Given the description of an element on the screen output the (x, y) to click on. 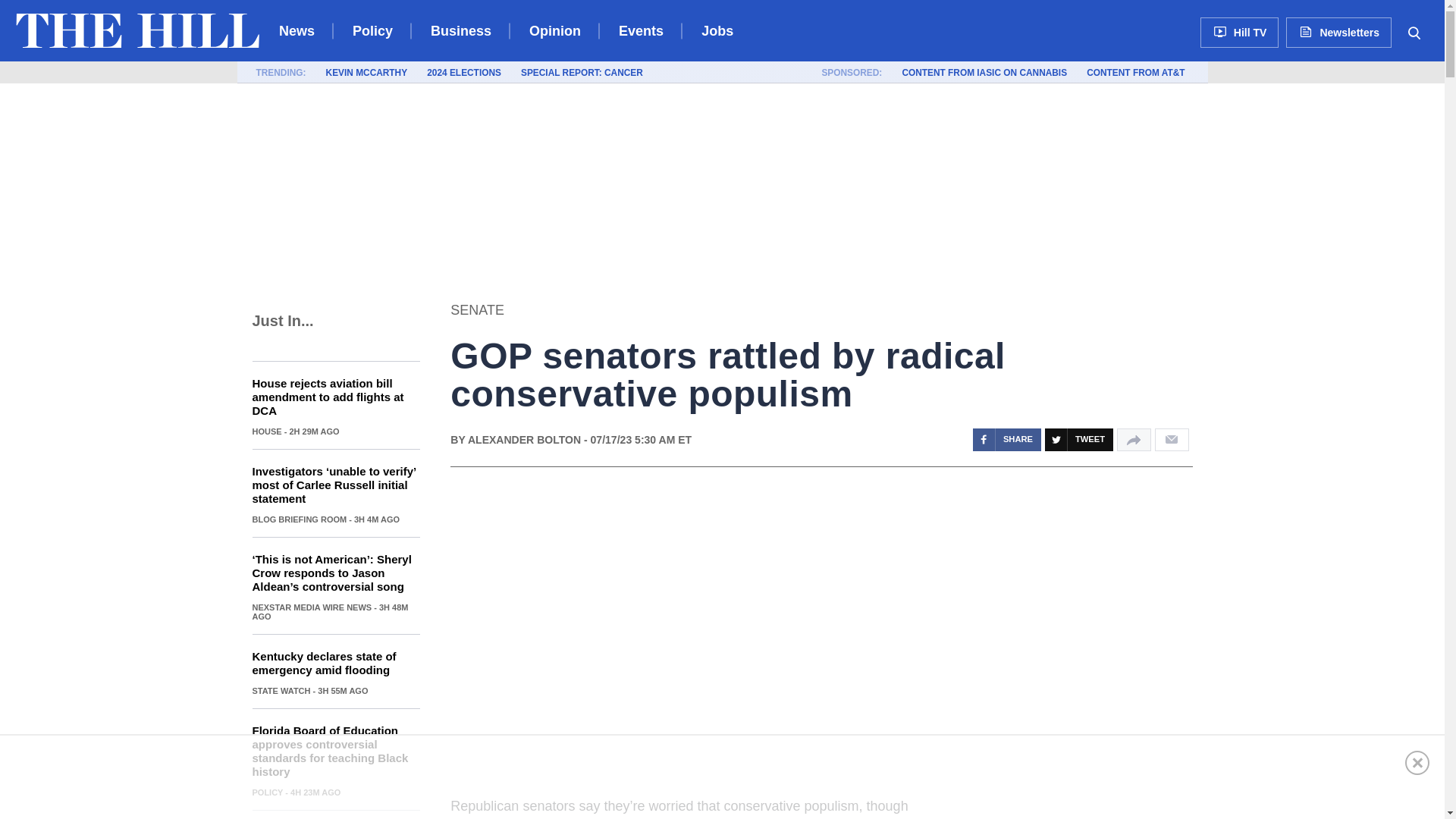
Business (461, 30)
Policy (372, 30)
News (296, 30)
Senate (476, 309)
Search (1414, 31)
3rd party ad content (721, 776)
3rd party ad content (1093, 656)
